Given the description of an element on the screen output the (x, y) to click on. 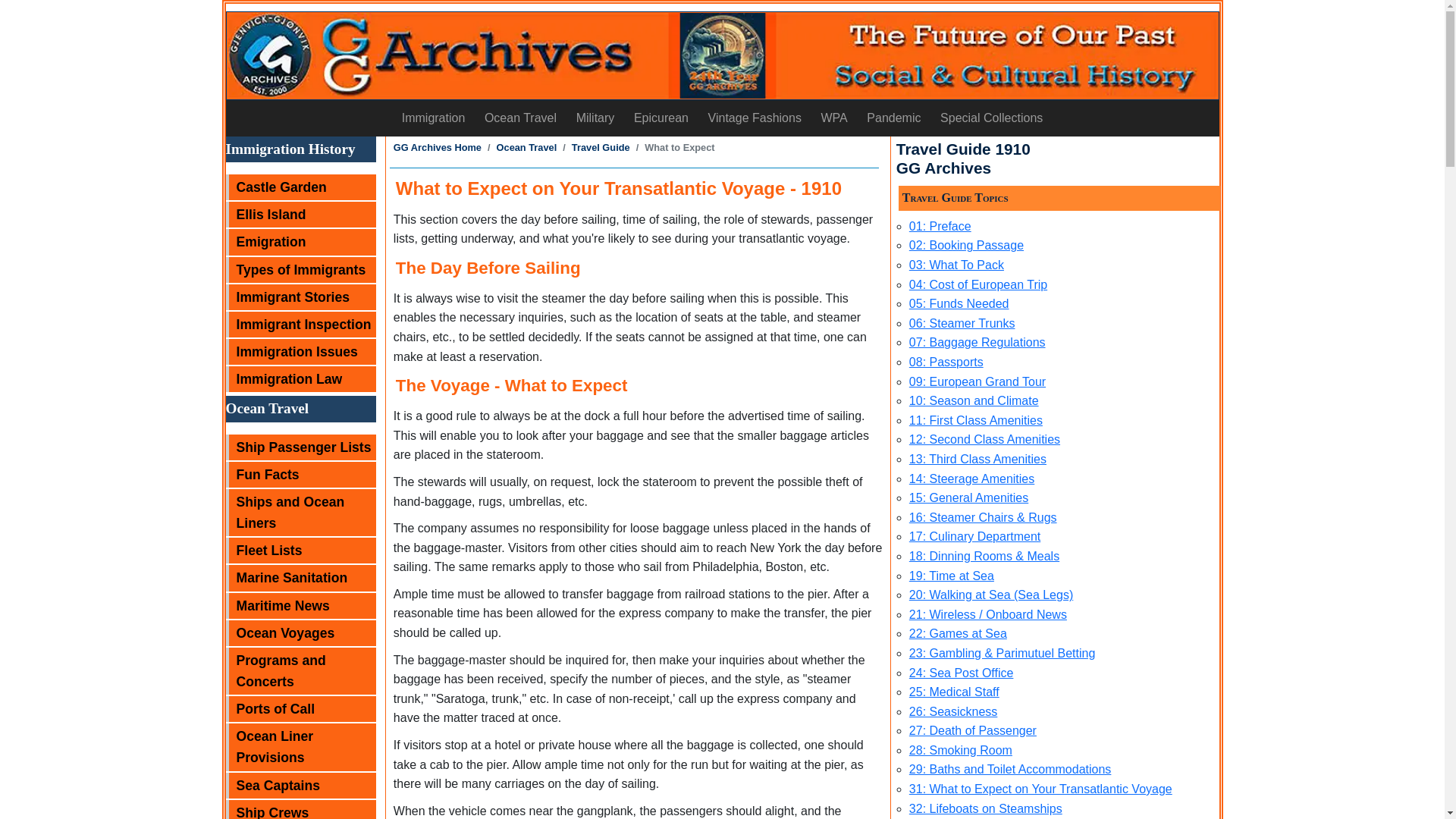
Ship Crews (300, 809)
Types of Immigrants (300, 269)
Fun Facts (300, 474)
Emigration (300, 241)
Vintage Fashions (754, 118)
Ocean Travel (520, 118)
Epicurean (661, 118)
Immigration (432, 118)
Immigration Issues (300, 351)
Ships and Ocean Liners (300, 512)
